Given the description of an element on the screen output the (x, y) to click on. 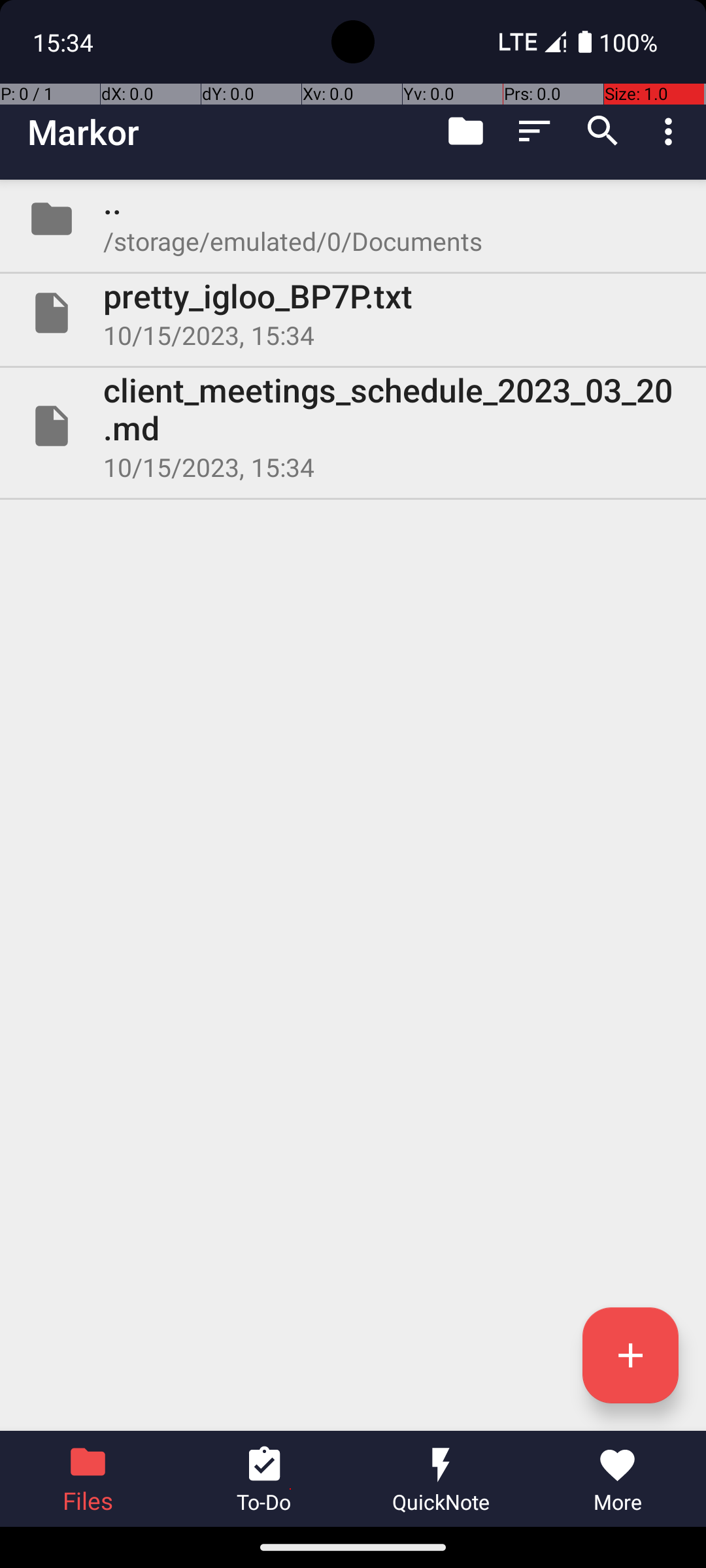
File pretty_igloo_BP7P.txt  Element type: android.widget.LinearLayout (353, 312)
File client_meetings_schedule_2023_03_20.md  Element type: android.widget.LinearLayout (353, 425)
